Given the description of an element on the screen output the (x, y) to click on. 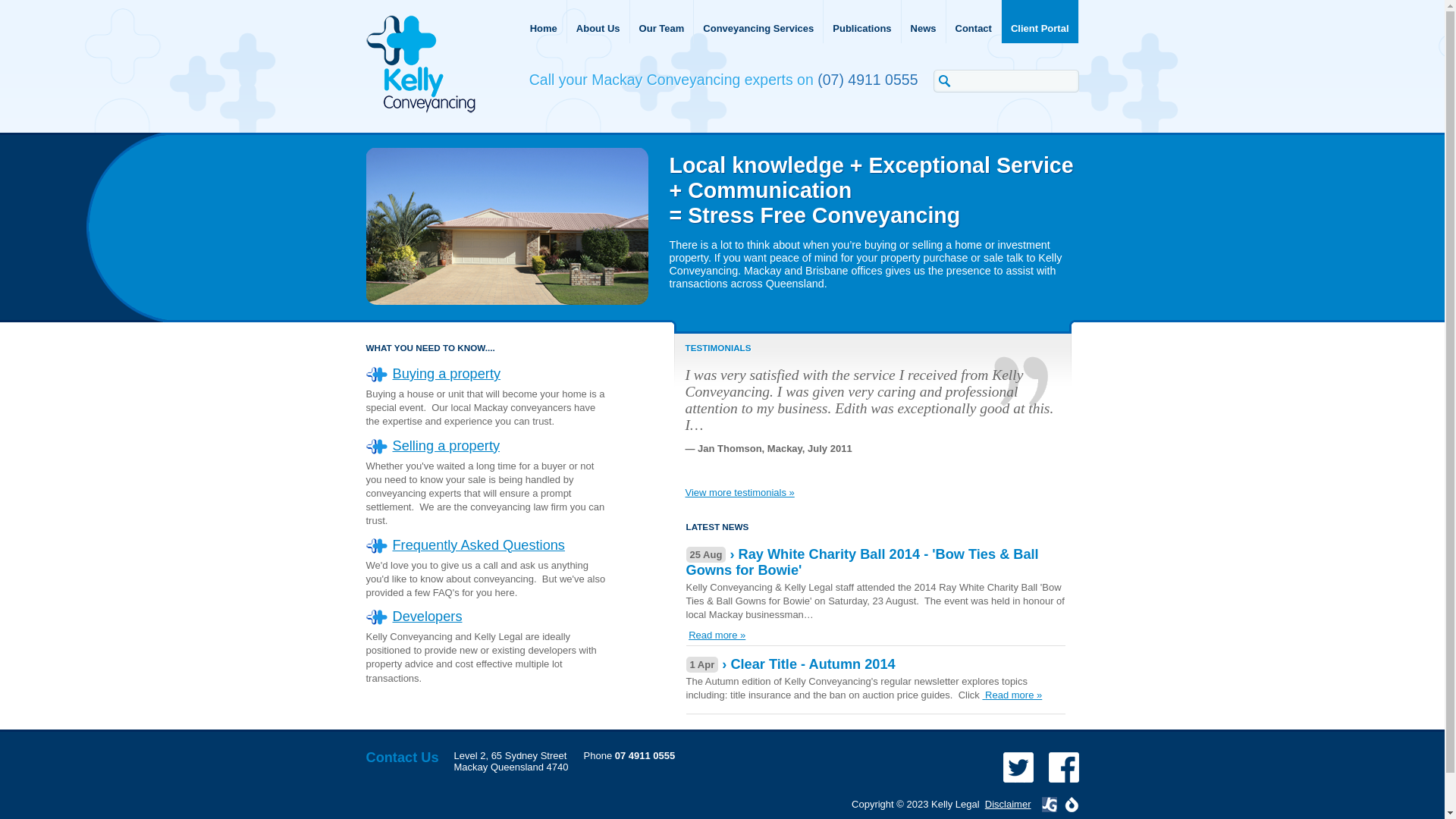
Publications Element type: text (861, 21)
Developers Element type: text (427, 616)
Client Portal Element type: text (1040, 21)
Disclaimer Element type: text (1008, 803)
News Element type: text (923, 21)
About Us Element type: text (598, 21)
Kelly Conveyancing Element type: hover (419, 63)
Home Element type: text (543, 21)
Our Team Element type: text (662, 21)
Selling a property Element type: text (446, 445)
Buying a property Element type: text (446, 373)
Website Design by Clear Pixel Element type: hover (1071, 804)
Contact Element type: text (973, 21)
Conveyancing Services Element type: text (758, 21)
Law Firm Marketing by John Gray Marketing Element type: hover (1049, 804)
  Element type: text (983, 694)
Frequently Asked Questions Element type: text (478, 544)
